Given the description of an element on the screen output the (x, y) to click on. 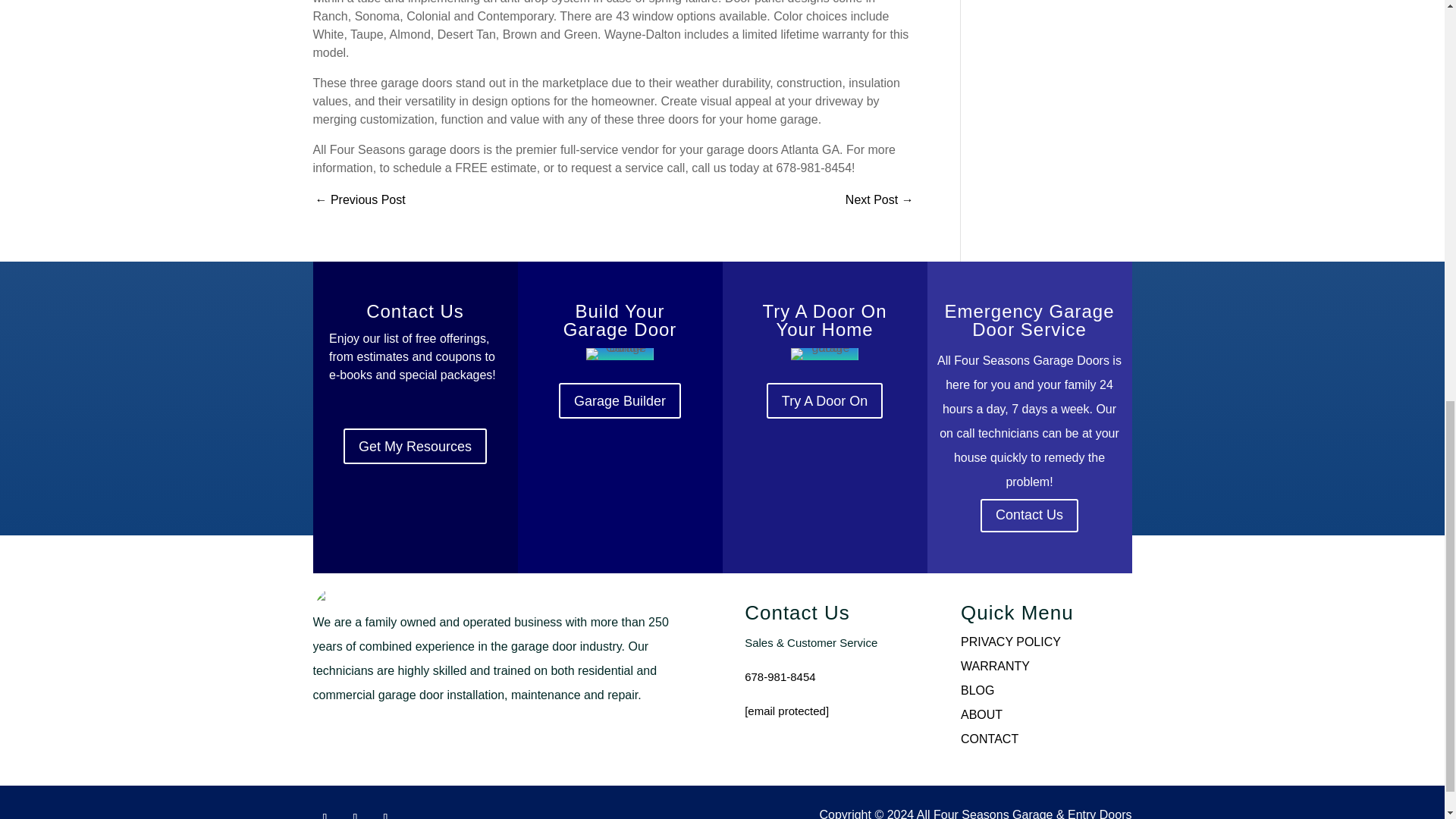
Get My Resources (414, 446)
Follow on X (384, 812)
Try A Door On (824, 400)
Follow on Instagram (354, 812)
Contact Us (1028, 515)
BLOG (977, 689)
PRIVACY POLICY (1010, 641)
678-981-8454 (779, 676)
WARRANTY (994, 666)
Garage Build4 (619, 354)
